Given the description of an element on the screen output the (x, y) to click on. 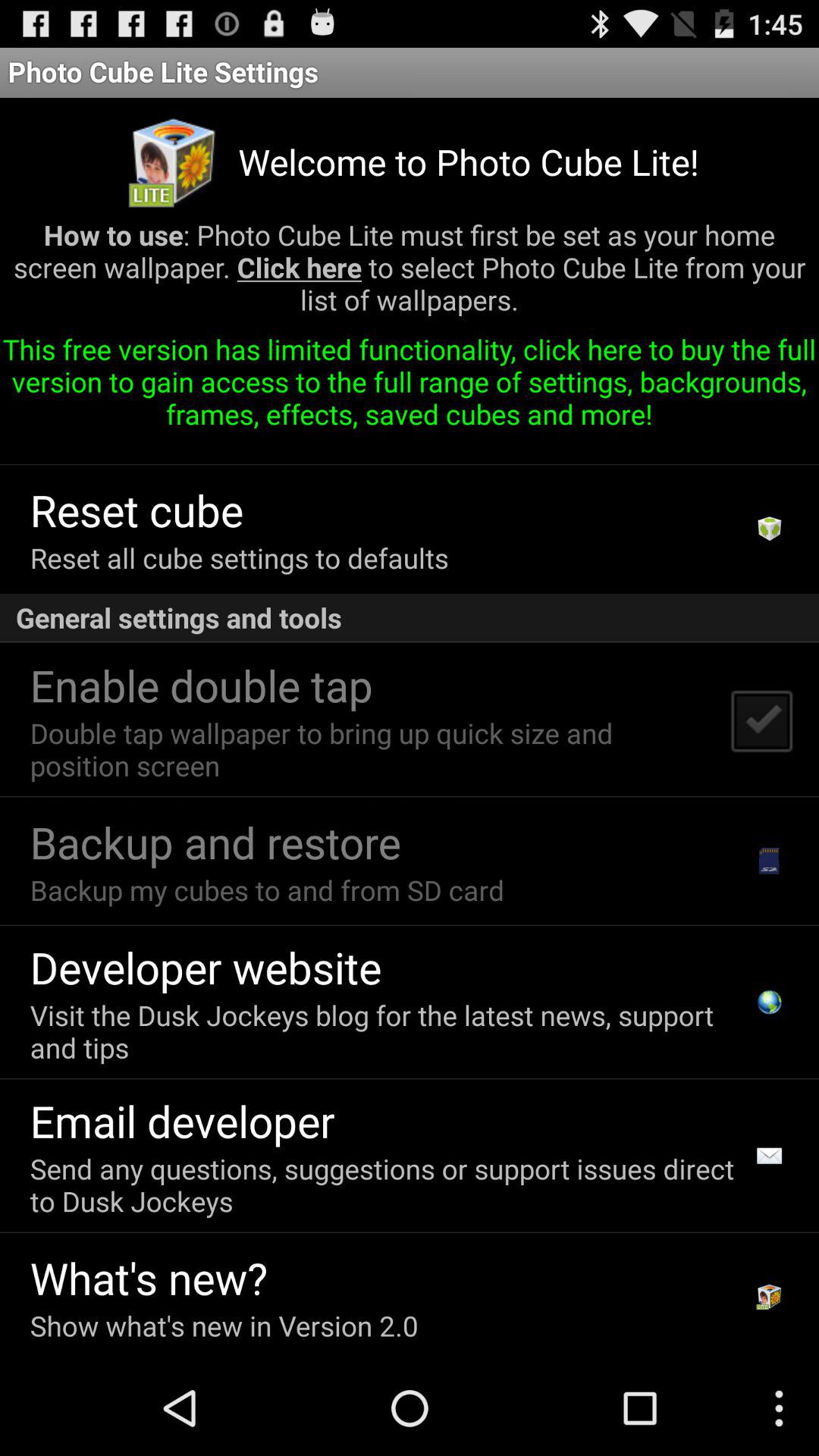
choose the app below this free version icon (769, 528)
